Given the description of an element on the screen output the (x, y) to click on. 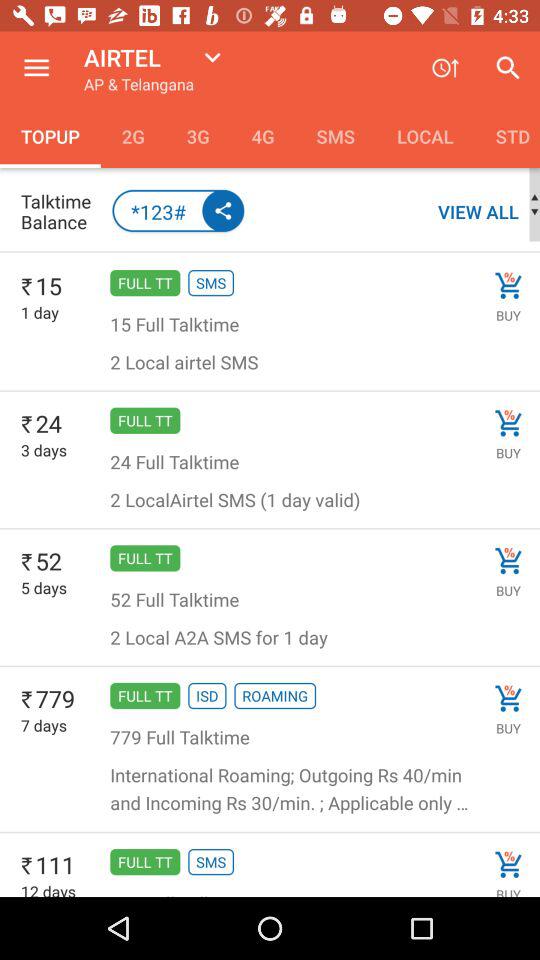
open 12 days (48, 888)
